Given the description of an element on the screen output the (x, y) to click on. 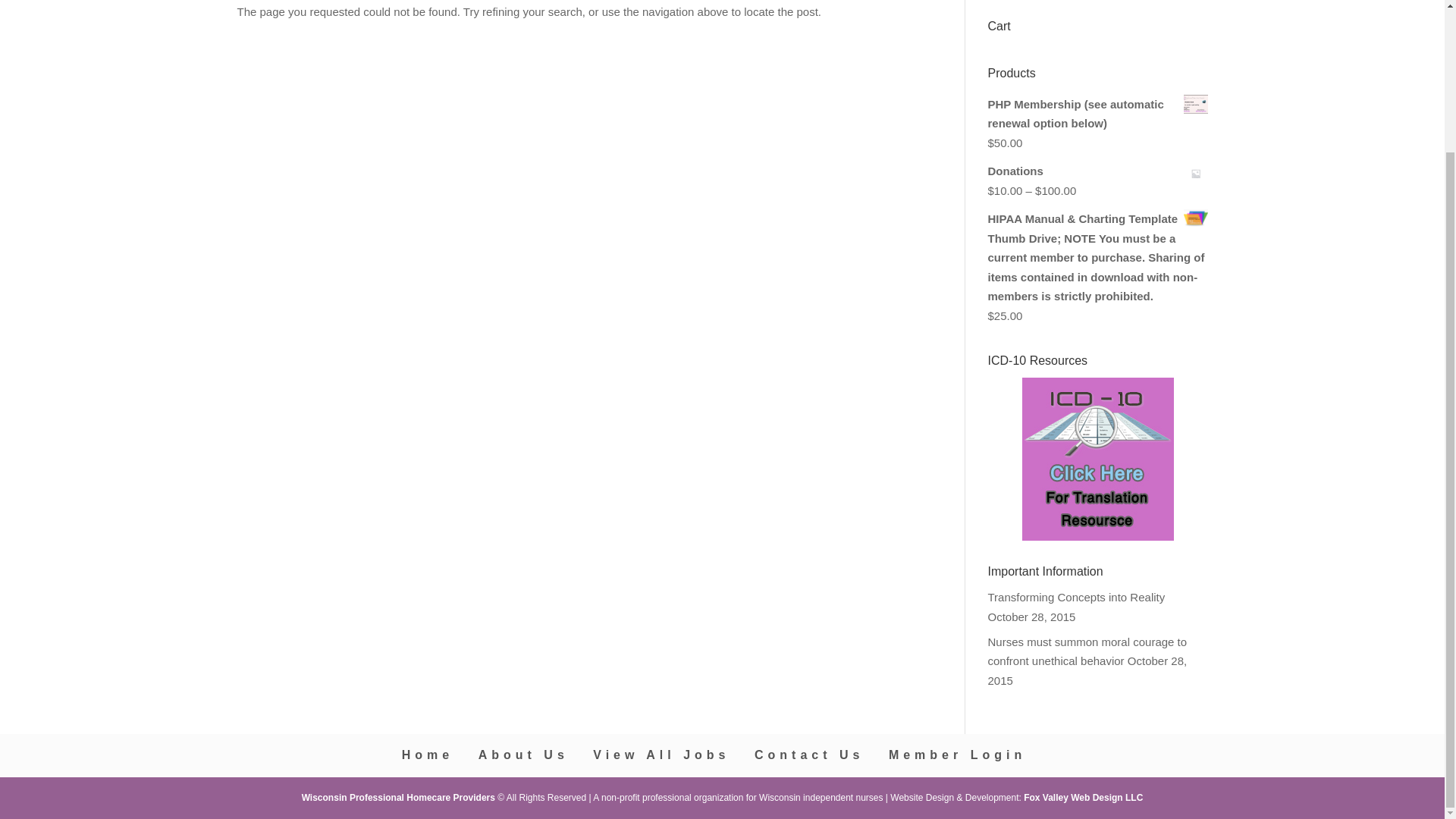
Donations (1097, 170)
Fox Valley Web Design LLC (1082, 797)
Home (426, 754)
Member Login (957, 754)
View All Jobs (660, 754)
ICD-10 Resources (1097, 458)
Contact Us (808, 754)
Transforming Concepts into Reality (1075, 596)
Wisconsin Professional Homecare Providers (399, 797)
About Us (524, 754)
